Given the description of an element on the screen output the (x, y) to click on. 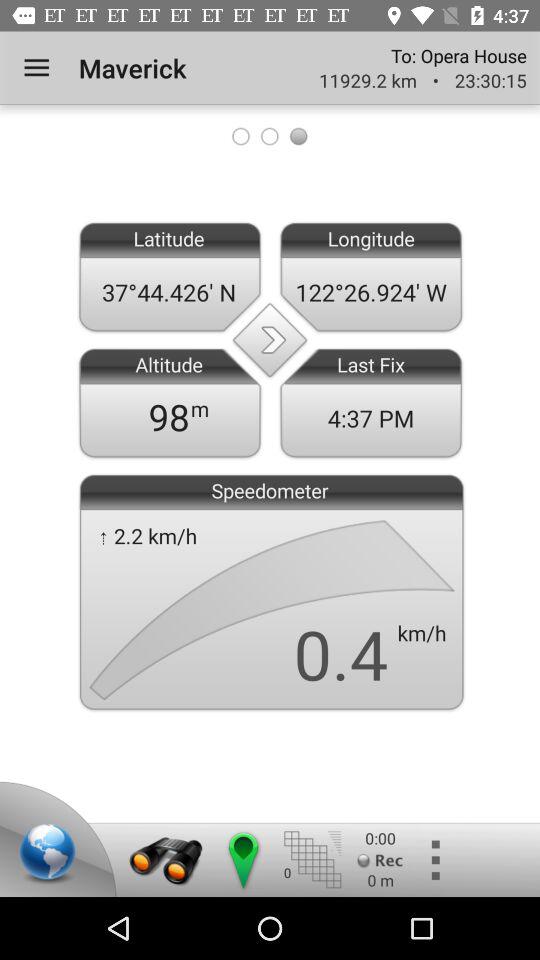
record (380, 860)
